Given the description of an element on the screen output the (x, y) to click on. 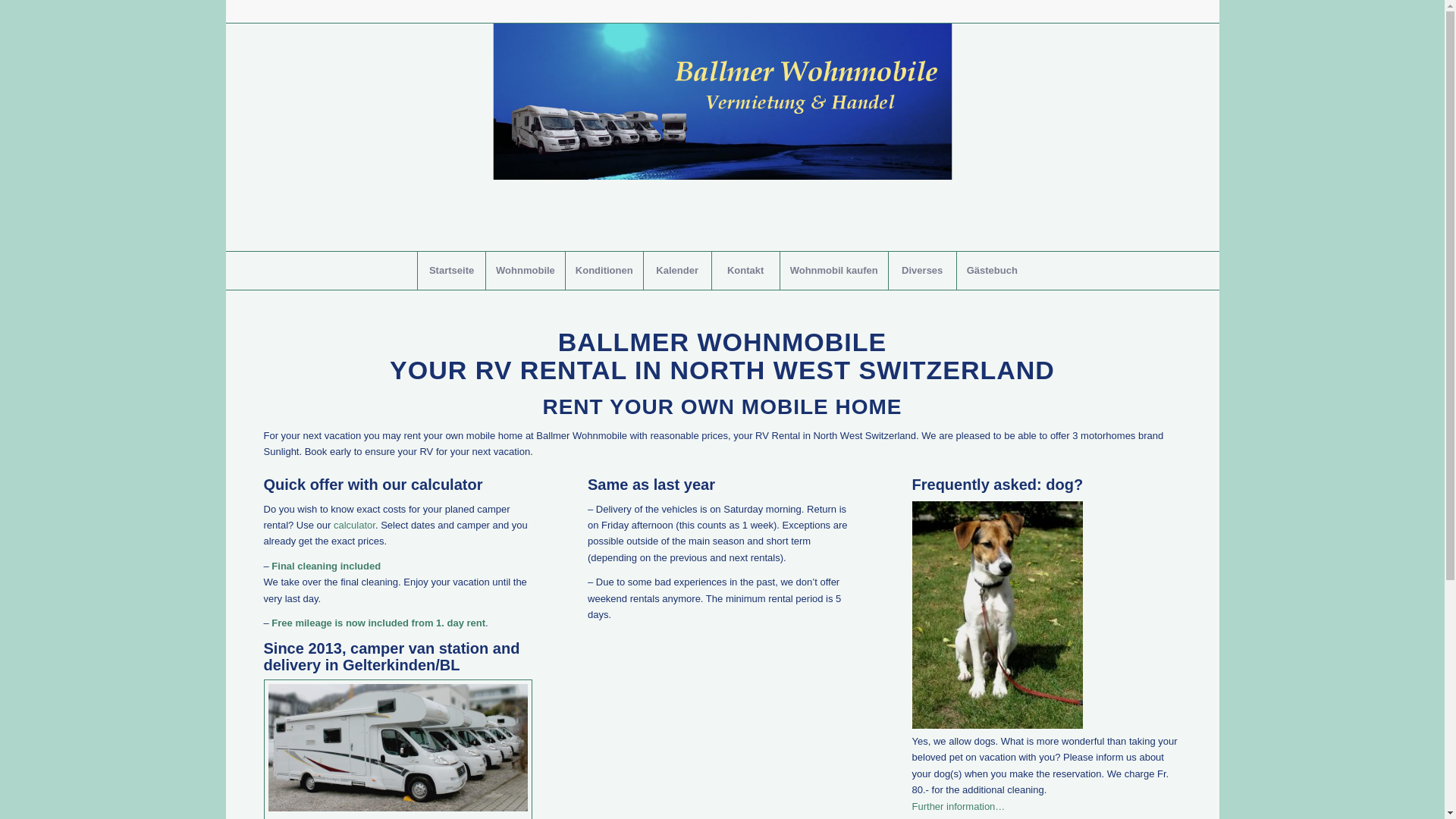
Diverses Element type: text (922, 270)
Kontakt Element type: text (745, 270)
Konditionen Element type: text (603, 270)
Wohnmobile Element type: text (524, 270)
Startseite Element type: text (451, 270)
Wohnmobil kaufen Element type: text (833, 270)
calculator Element type: text (354, 524)
Kalender Element type: text (677, 270)
